Given the description of an element on the screen output the (x, y) to click on. 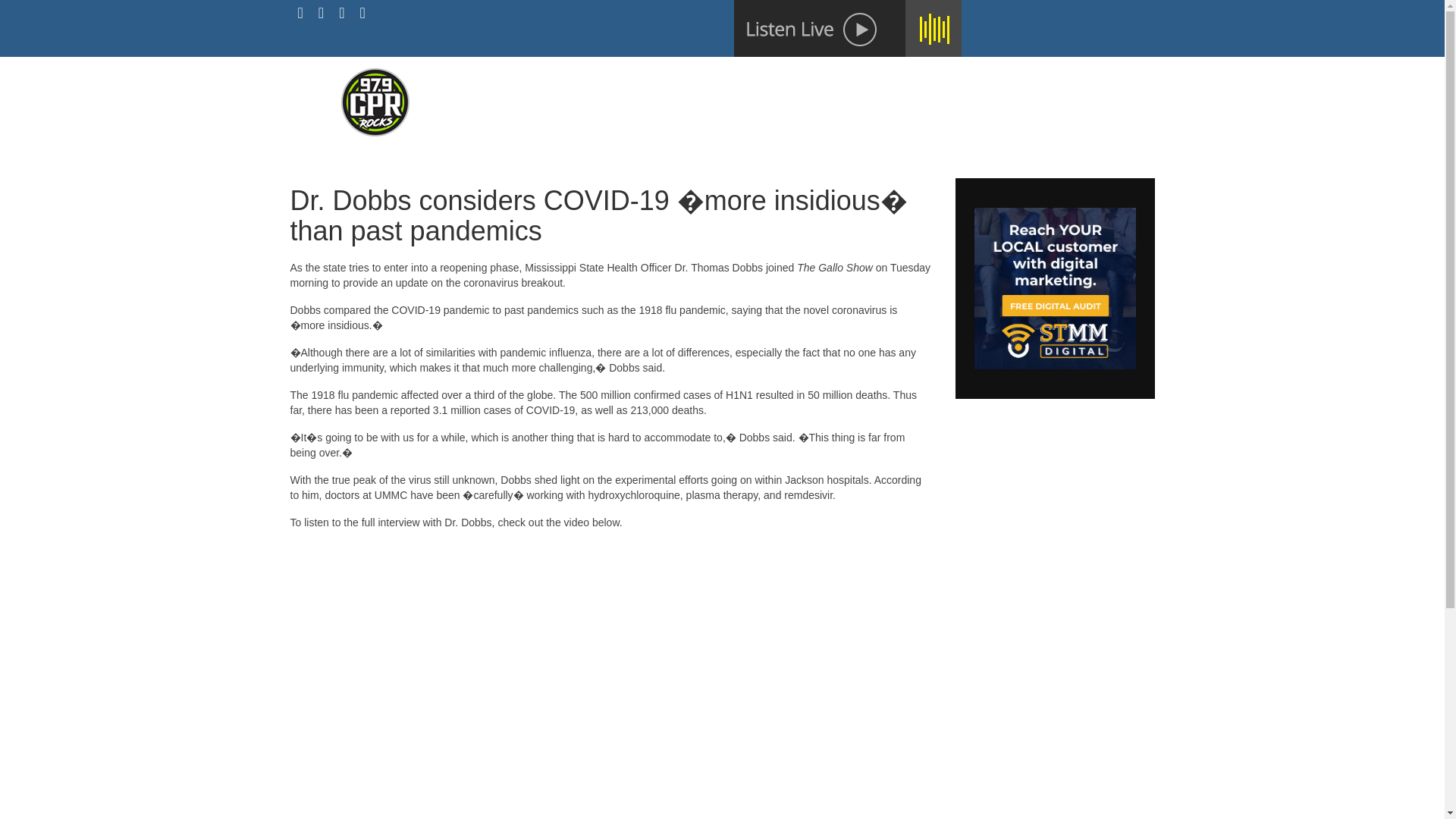
White flower (846, 28)
HOME (613, 79)
CONTESTS (748, 79)
ON AIR (672, 79)
CONCERTS (839, 79)
HALF OFF DEALS (951, 79)
